Given the description of an element on the screen output the (x, y) to click on. 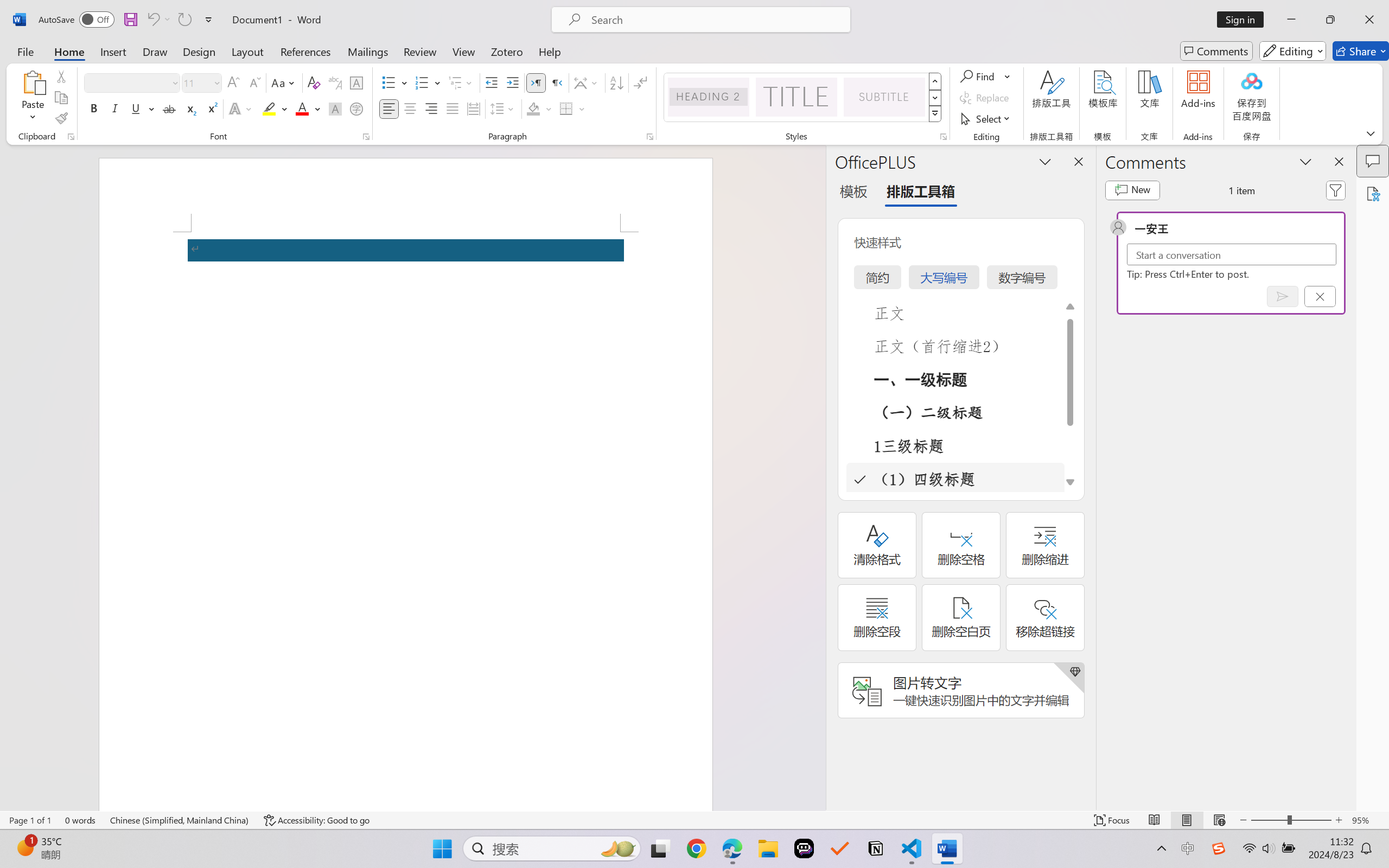
Left-to-Right (535, 82)
